Given the description of an element on the screen output the (x, y) to click on. 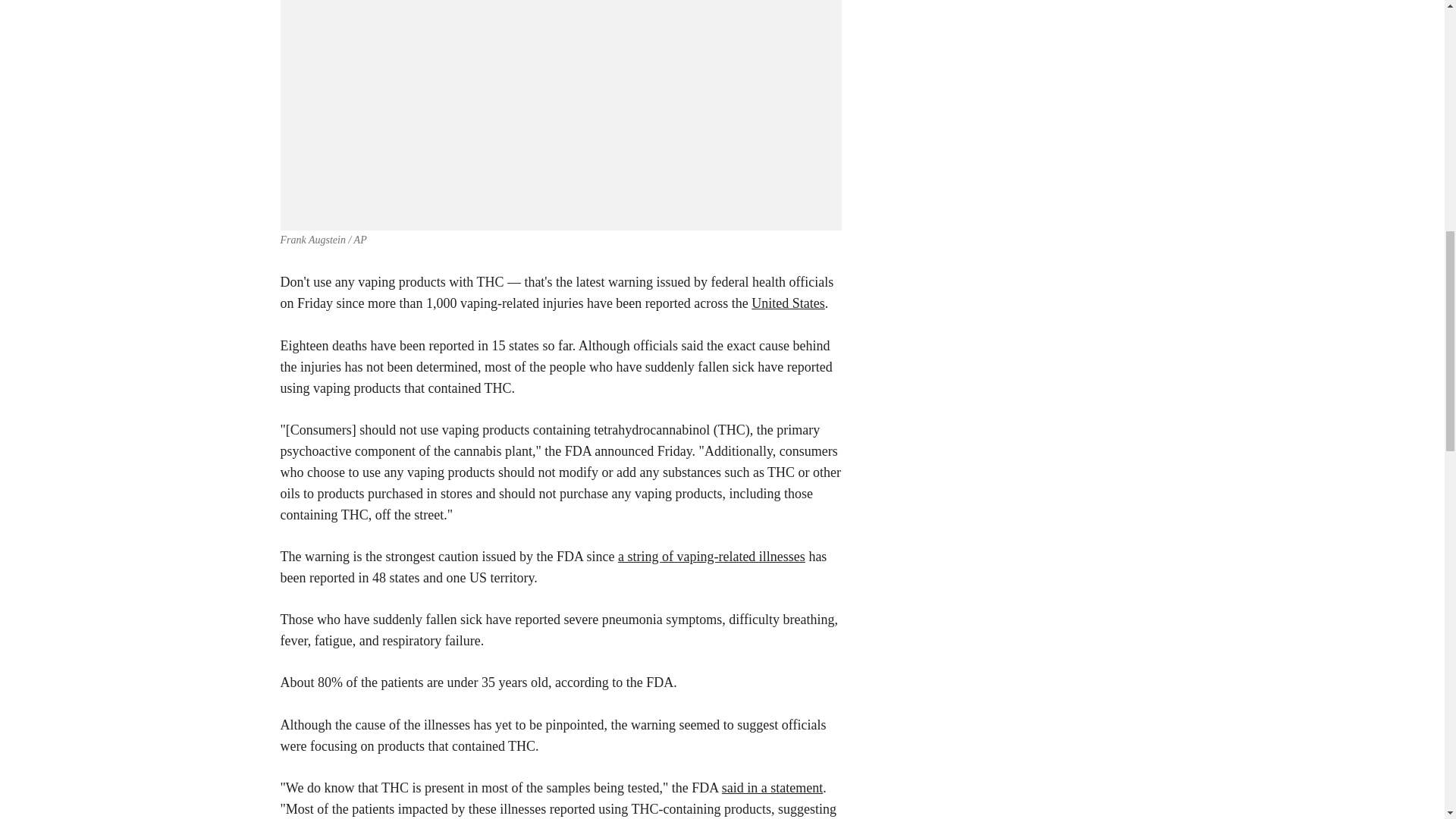
a string of vaping-related illnesses (711, 556)
said in a statement (772, 787)
United States (788, 303)
